Given the description of an element on the screen output the (x, y) to click on. 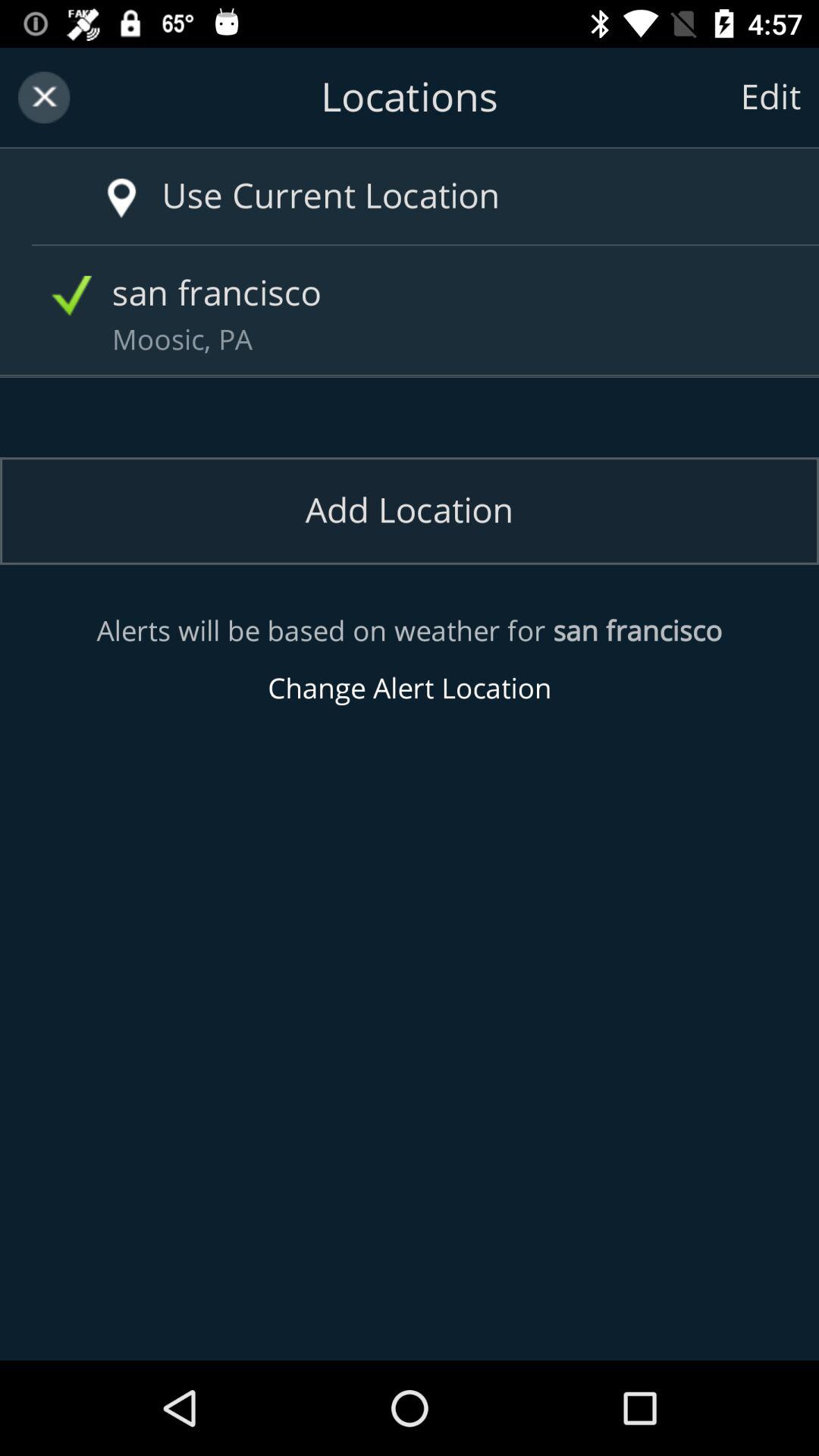
open the item below add location icon (409, 659)
